Given the description of an element on the screen output the (x, y) to click on. 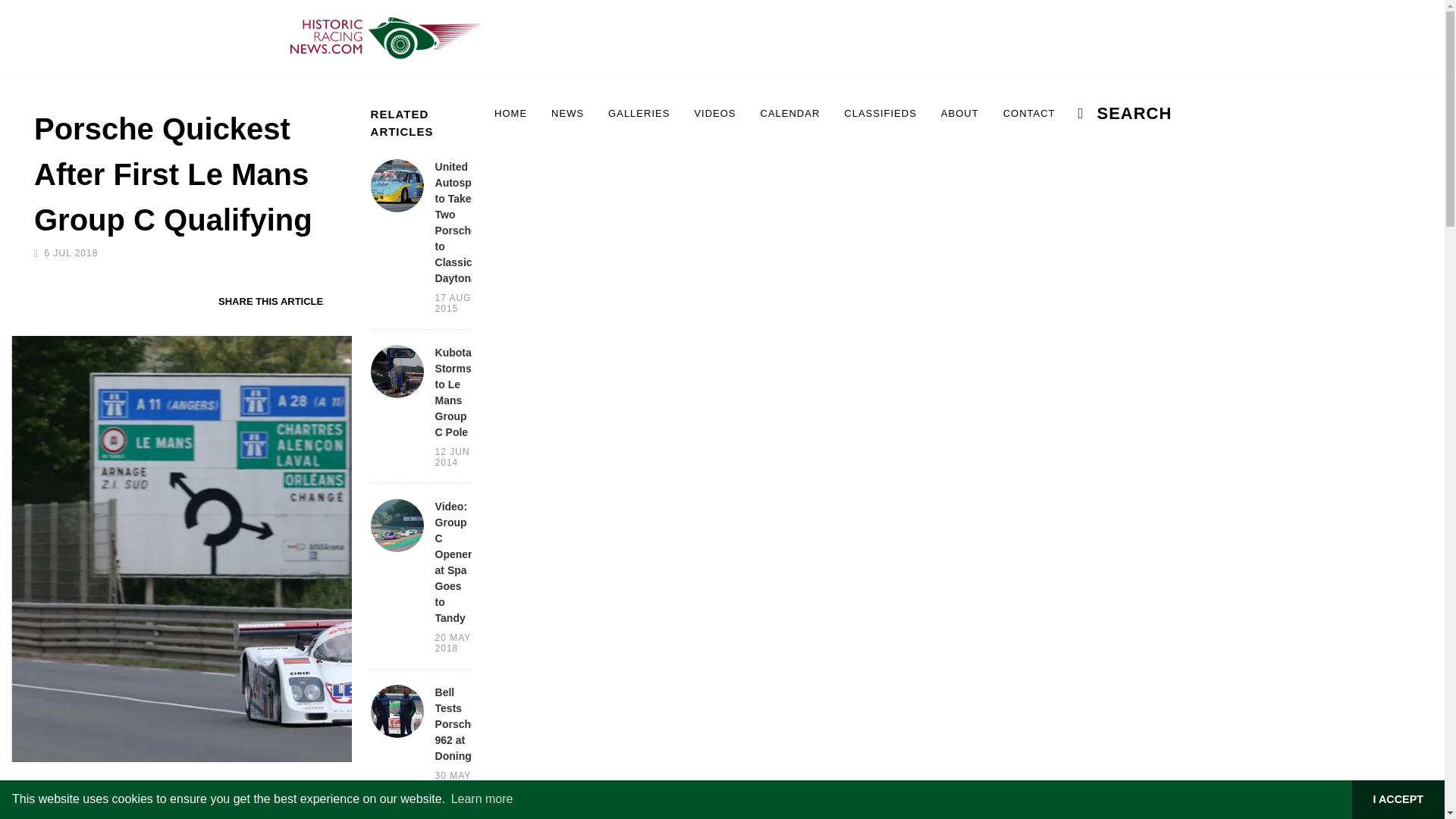
SEARCH (1116, 113)
GALLERIES (638, 113)
CONTACT (1029, 113)
Learn more (481, 798)
CLASSIFIEDS (880, 113)
CALENDAR (790, 113)
